Given the description of an element on the screen output the (x, y) to click on. 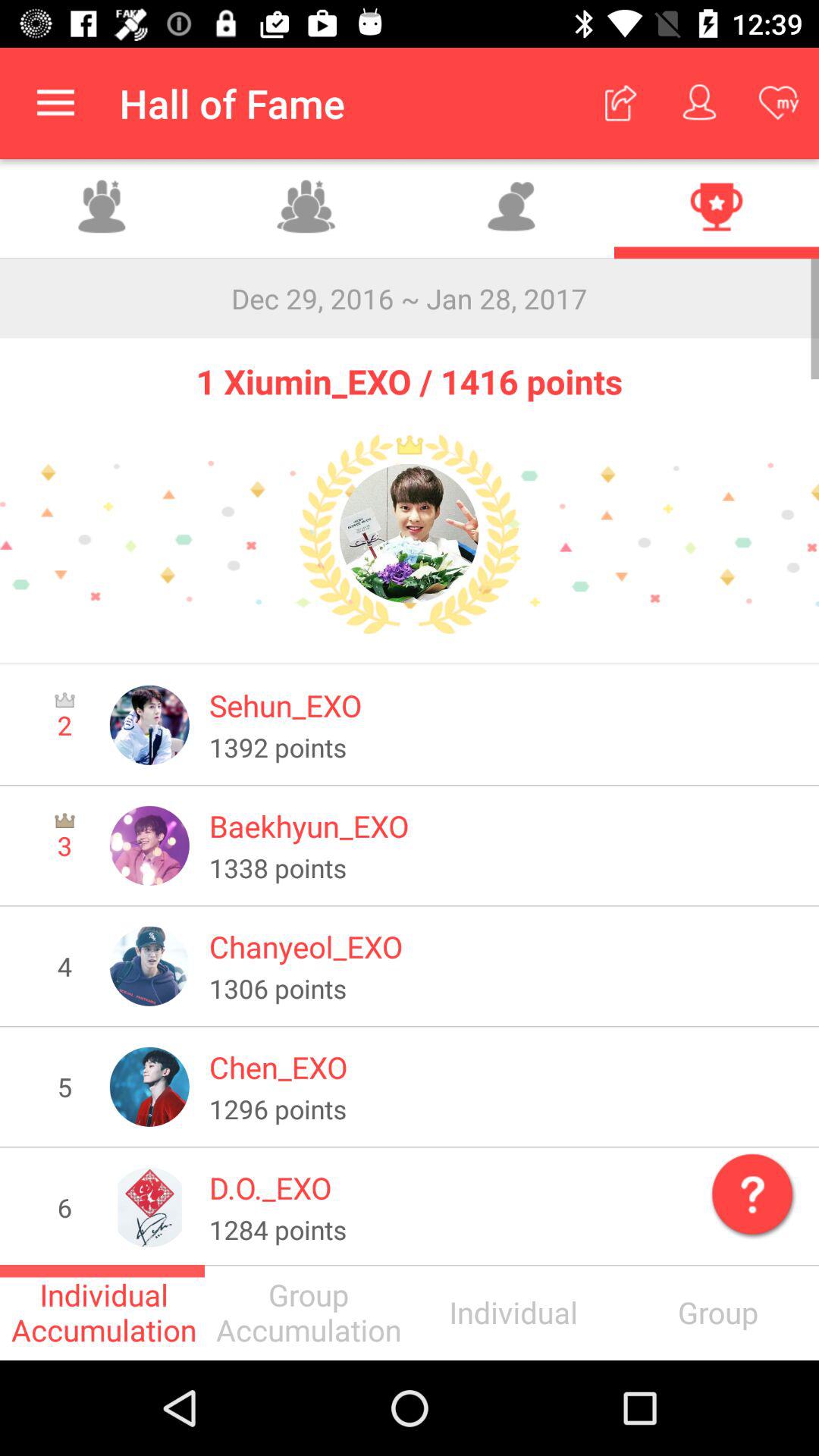
click the item below the dec 29 2016 icon (409, 371)
